Given the description of an element on the screen output the (x, y) to click on. 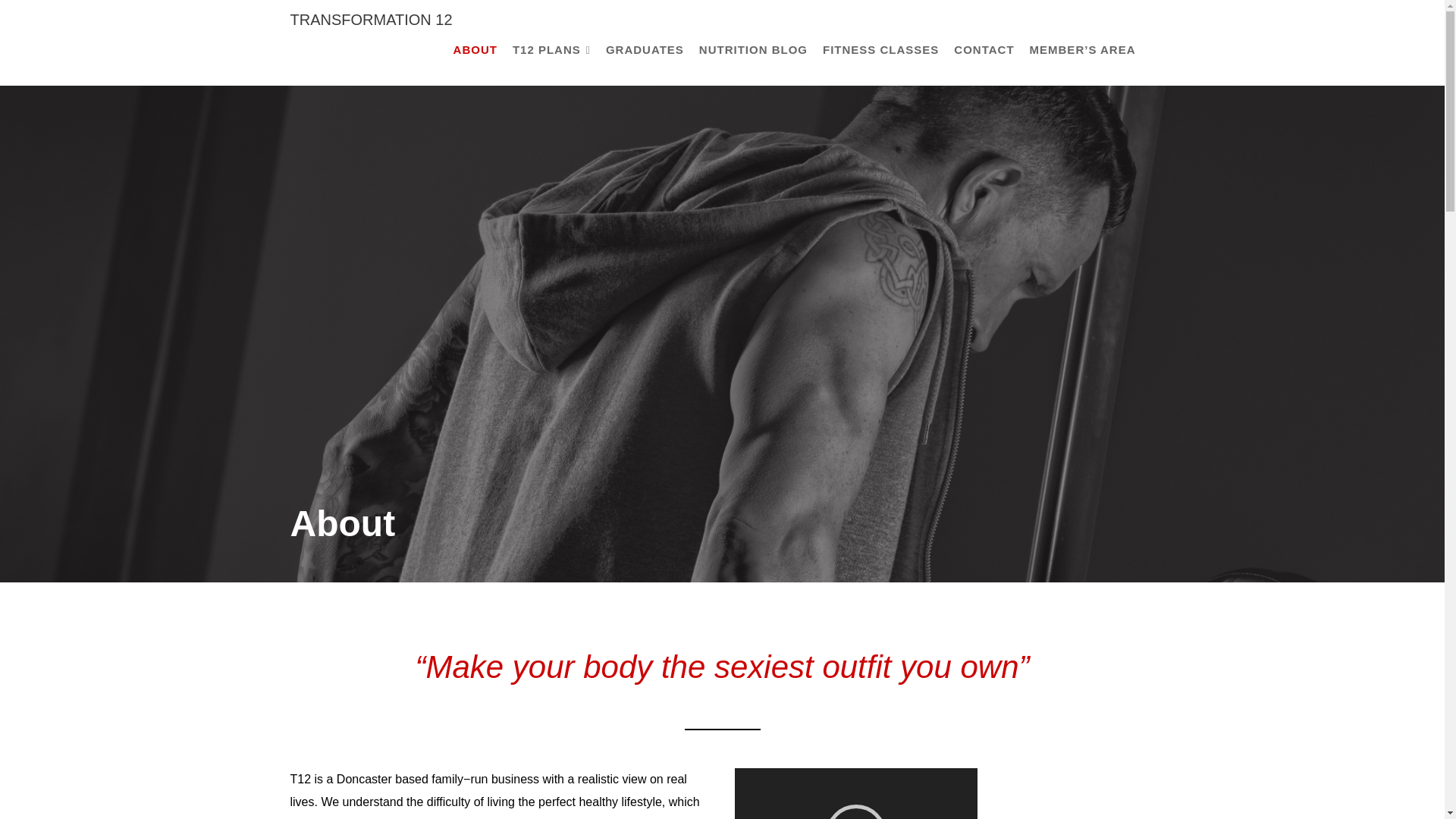
T12 PLANS (551, 50)
ABOUT (475, 49)
GRADUATES (644, 49)
CONTACT (984, 49)
NUTRITION BLOG (753, 49)
TRANSFORMATION 12 (370, 19)
Transformation 12 (370, 19)
FITNESS CLASSES (880, 49)
